Given the description of an element on the screen output the (x, y) to click on. 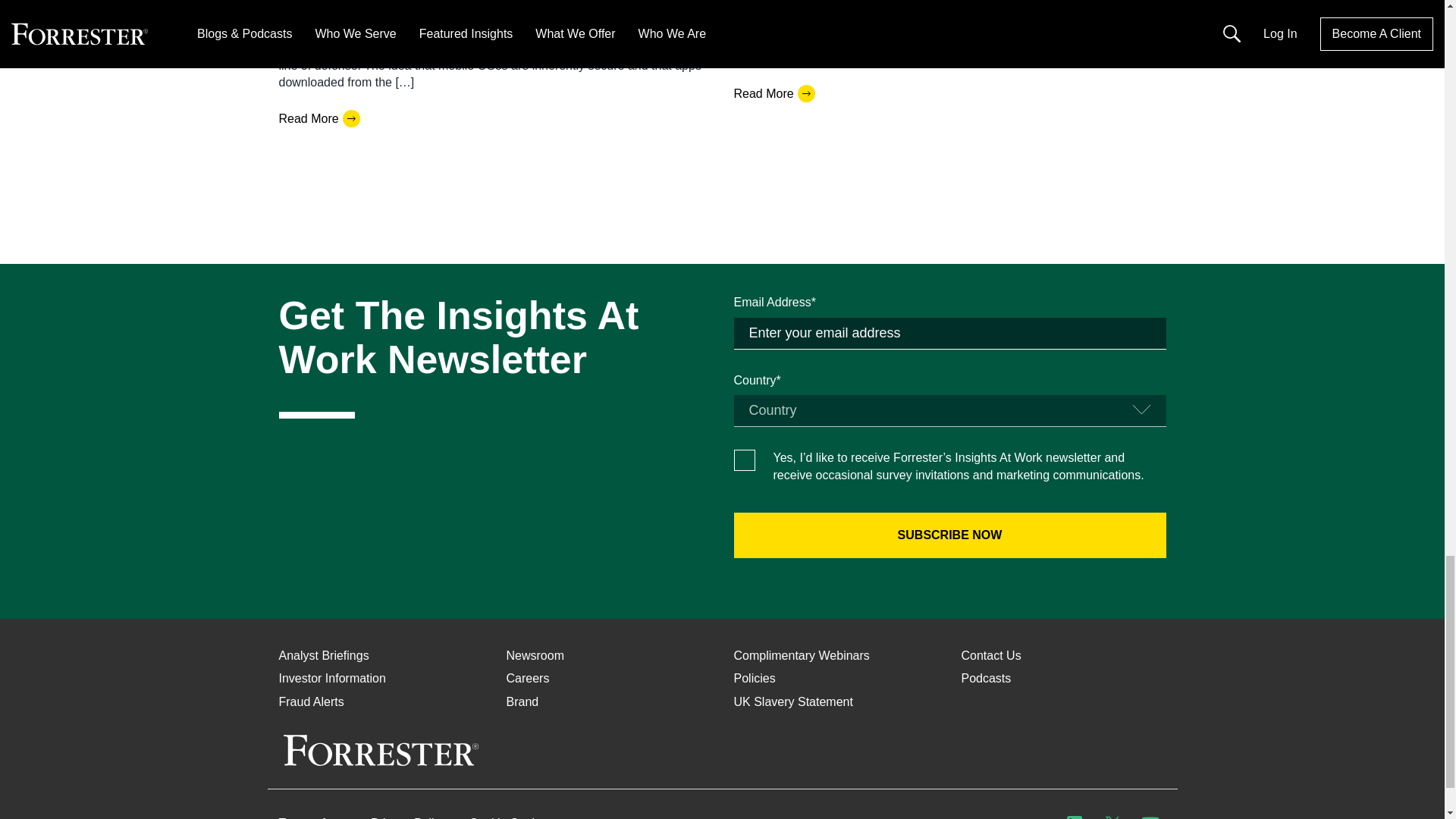
Subscribe Now (949, 534)
